Given the description of an element on the screen output the (x, y) to click on. 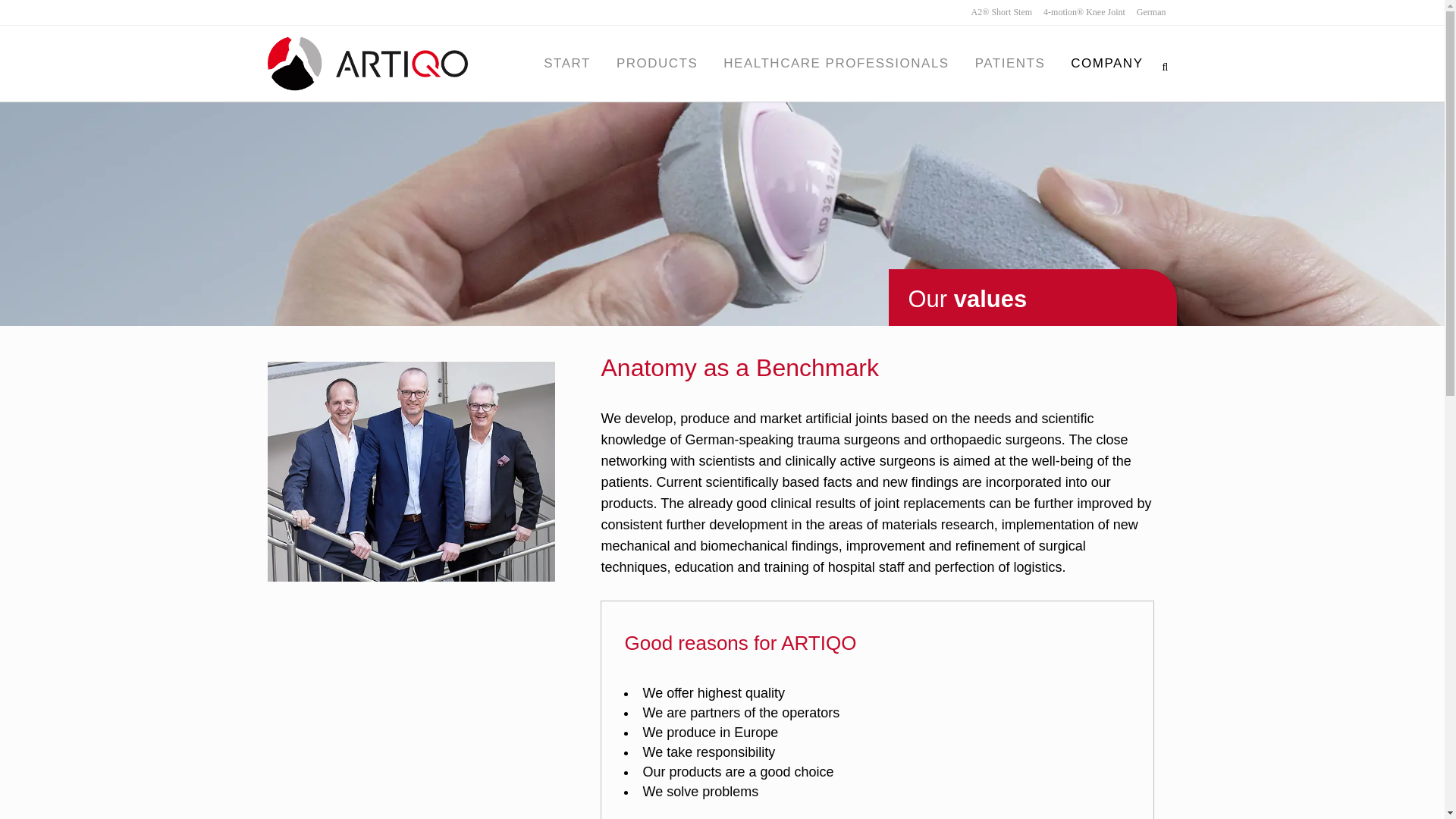
START (567, 63)
management-board (410, 471)
COMPANY (1107, 63)
PATIENTS (1010, 63)
German (1145, 12)
German (1145, 12)
PRODUCTS (657, 63)
HEALTHCARE PROFESSIONALS (835, 63)
